Given the description of an element on the screen output the (x, y) to click on. 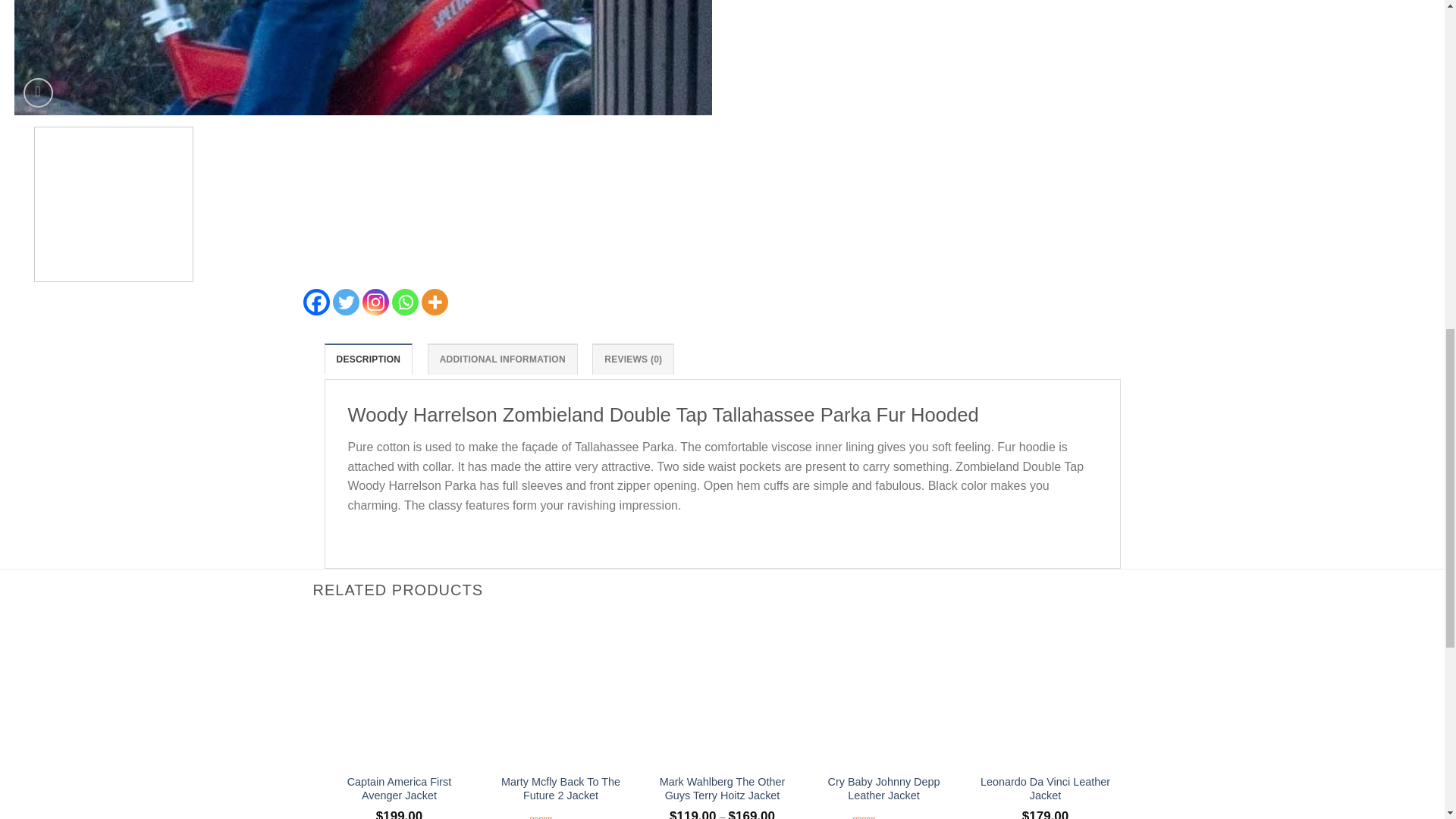
zombieland-double-tap-tallahassee-hoodie (1060, 57)
Zoom (37, 92)
Facebook (316, 302)
zombieland-double-tap-tallahassee-parka (362, 57)
